Given the description of an element on the screen output the (x, y) to click on. 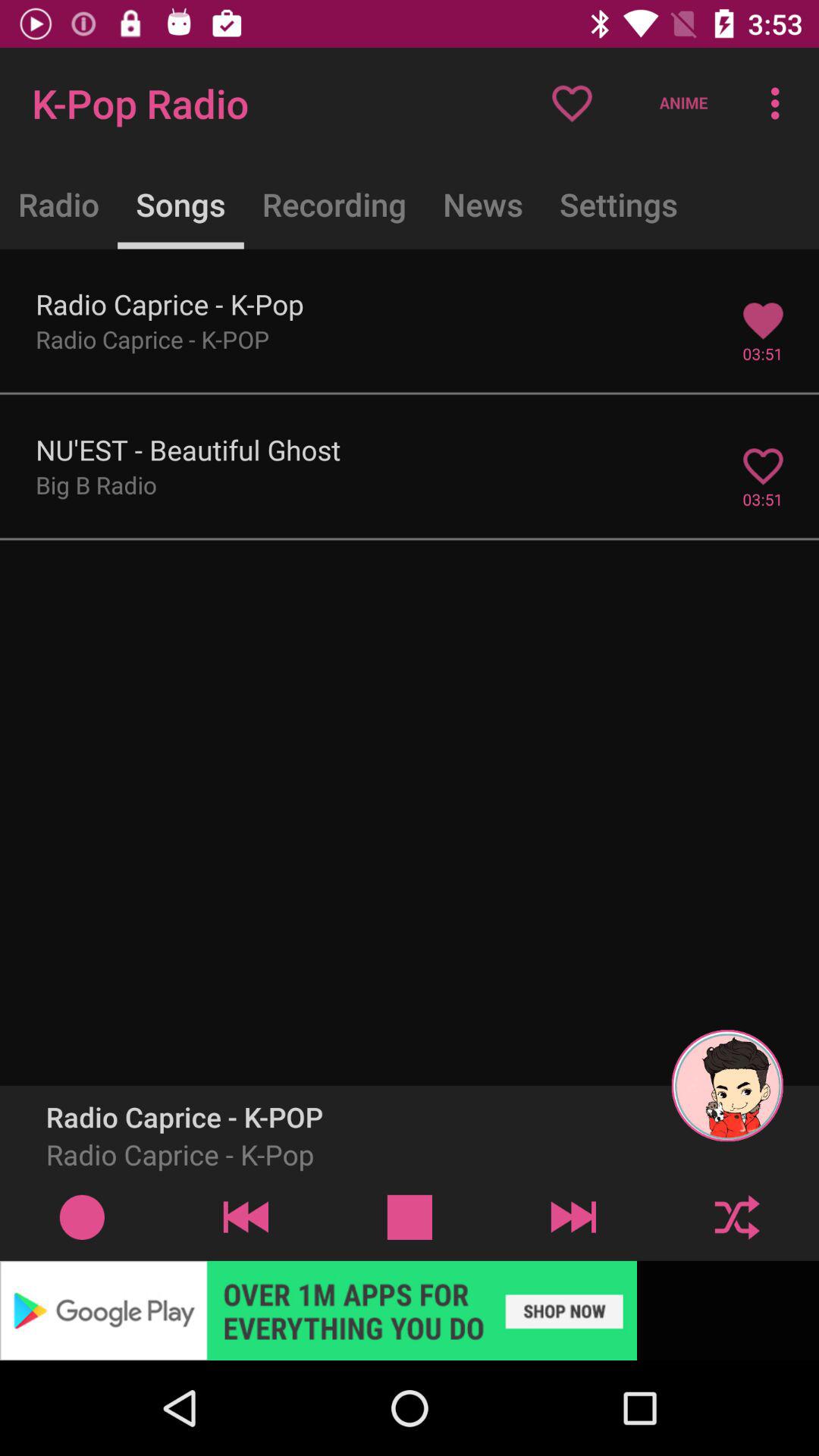
start recording (81, 1216)
